Given the description of an element on the screen output the (x, y) to click on. 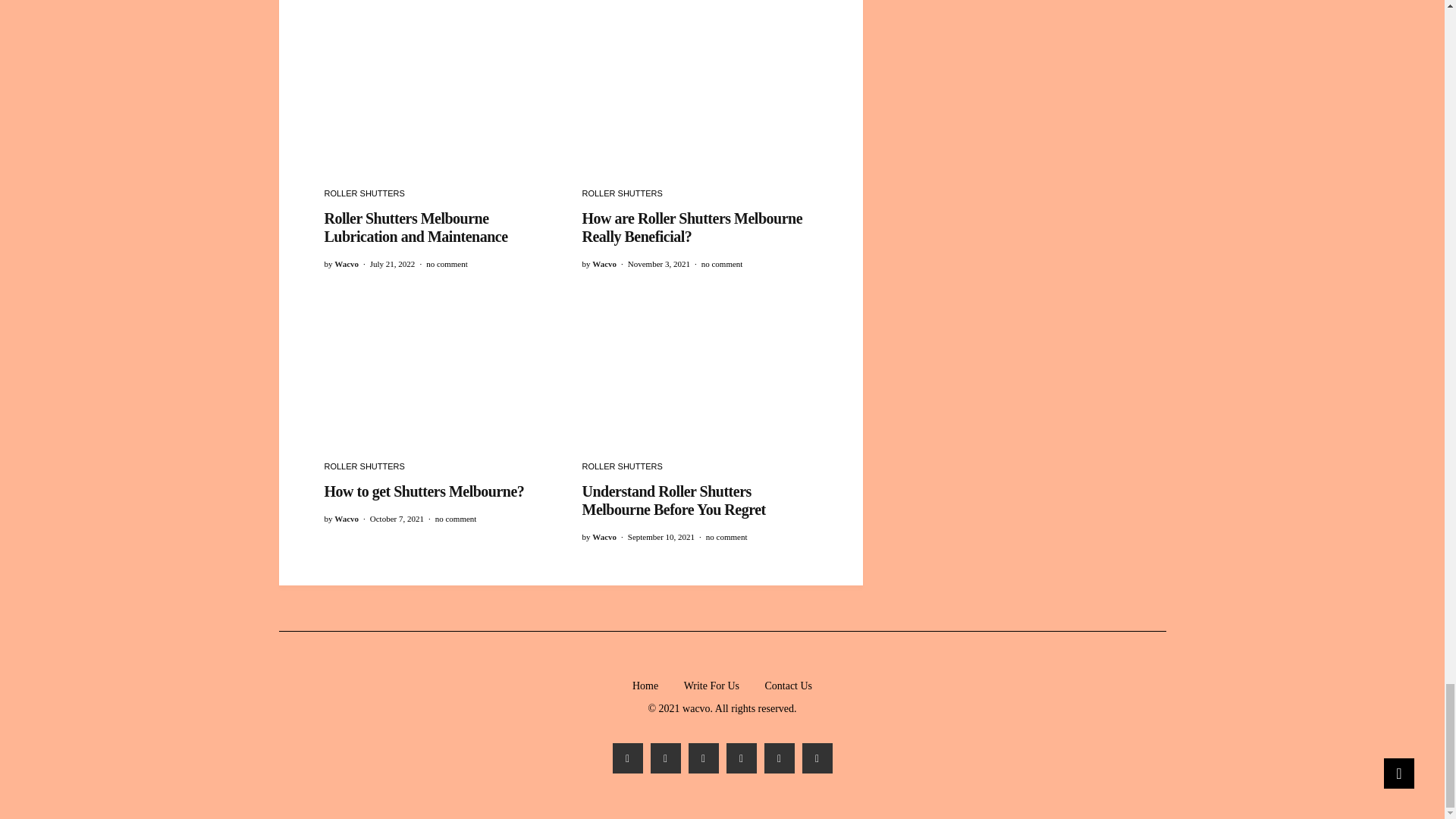
View all posts in Roller shutters (364, 193)
Posts by Wacvo (346, 263)
